Given the description of an element on the screen output the (x, y) to click on. 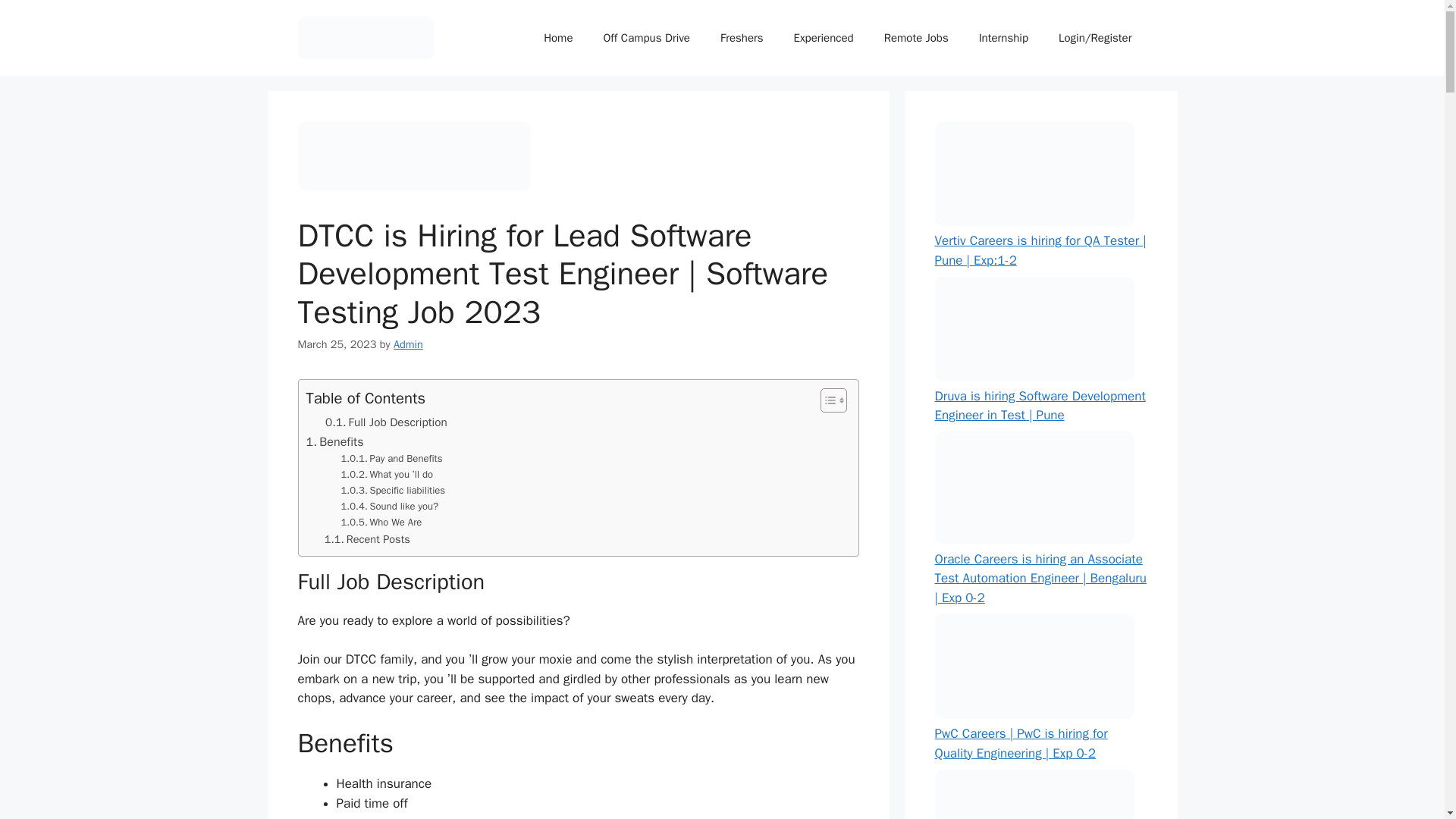
Who We Are (381, 522)
Home (558, 37)
Experienced (823, 37)
Who We Are  (381, 522)
Full Job Description  (385, 422)
Full Job Description (385, 422)
Admin (408, 344)
Benefits (334, 442)
Sound like you? (389, 506)
View all posts by Admin (408, 344)
